Given the description of an element on the screen output the (x, y) to click on. 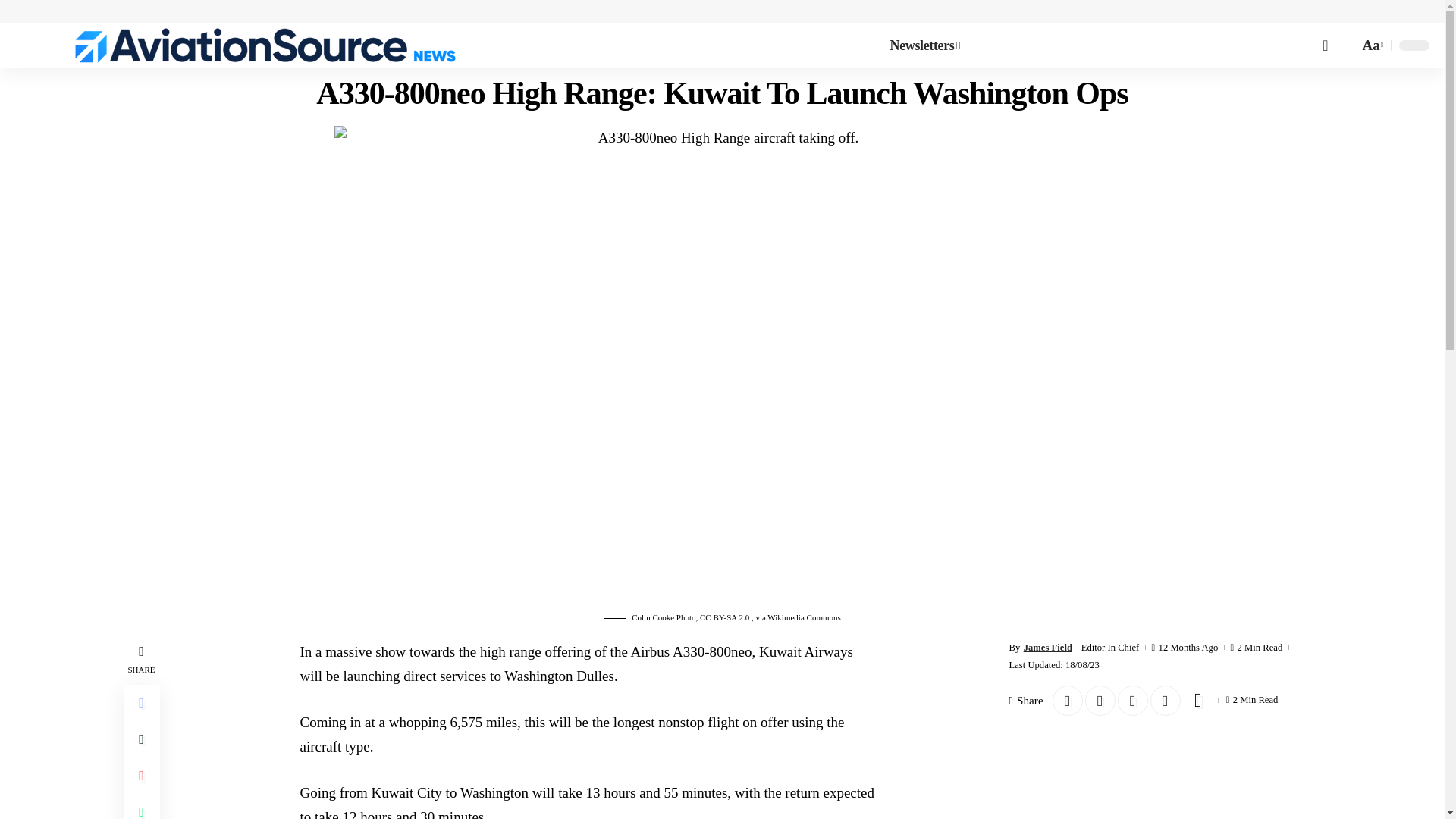
Newsletters (924, 44)
Aa (1371, 45)
AviationSource News (264, 44)
